Given the description of an element on the screen output the (x, y) to click on. 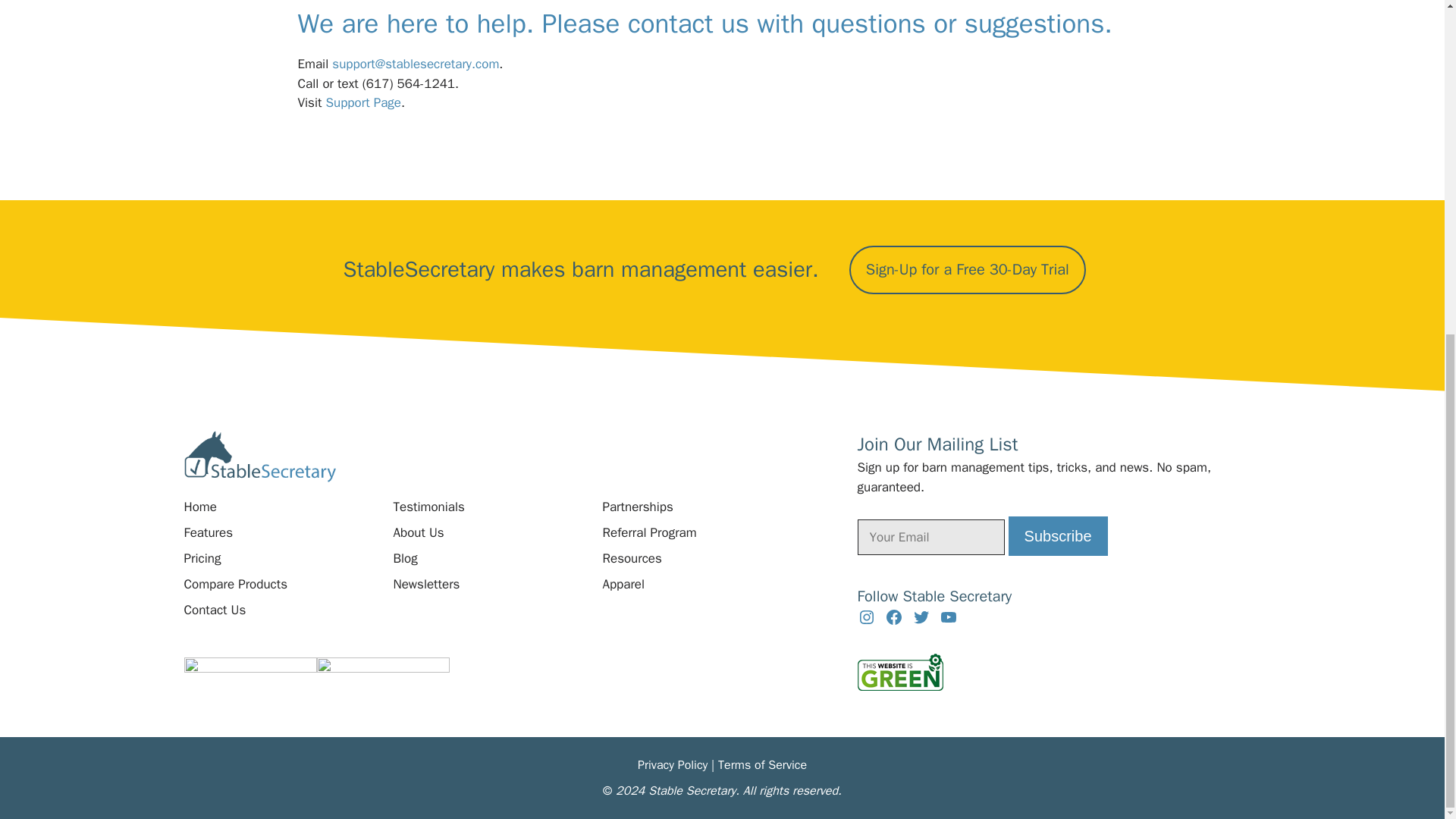
Contact Us (214, 609)
Home (199, 506)
Compare Products (234, 584)
Sign-Up for a Free 30-Day Trial (967, 269)
Pricing (202, 558)
Support Page (363, 102)
About Us (418, 532)
Testimonials (428, 506)
Features (207, 532)
Subscribe (1058, 536)
